Given the description of an element on the screen output the (x, y) to click on. 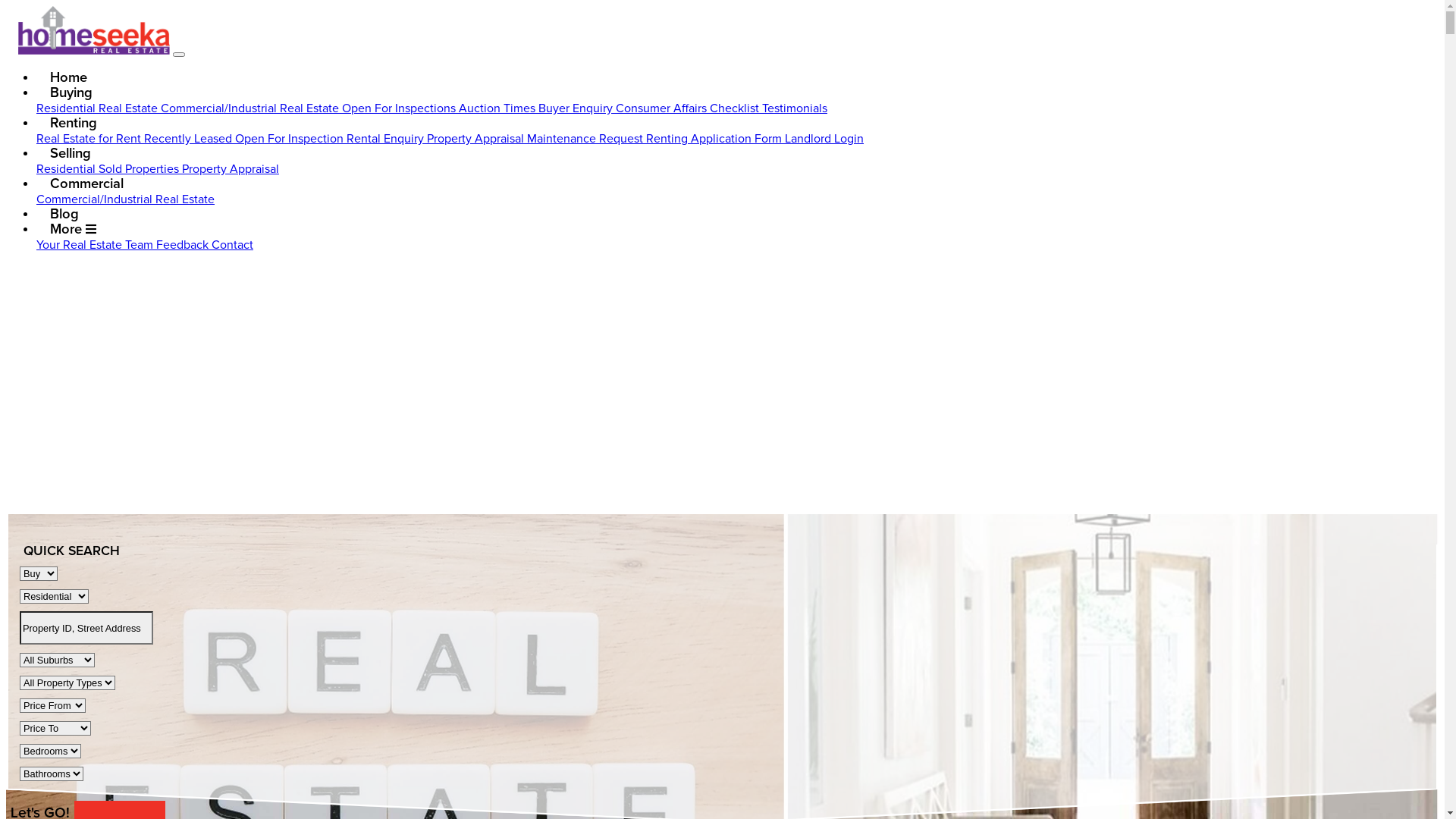
Homeseeka Element type: hover (93, 30)
Auction Times Element type: text (498, 108)
Rental Enquiry Element type: text (386, 138)
Home Element type: text (68, 77)
Buying Element type: text (70, 92)
Contact Element type: text (232, 244)
Testimonials Element type: text (794, 108)
Buyer Enquiry Element type: text (576, 108)
Renting Element type: text (72, 122)
Blog Element type: text (63, 213)
Residential Real Estate Element type: text (98, 108)
Commercial/Industrial Real Estate Element type: text (125, 199)
Maintenance Request Element type: text (586, 138)
Open For Inspections Element type: text (400, 108)
Residential Sold Properties Element type: text (109, 168)
Renting Application Form Element type: text (715, 138)
Your Real Estate Team Element type: text (96, 244)
Commercial/Industrial Real Estate Element type: text (251, 108)
Consumer Affairs Checklist Element type: text (688, 108)
Commercial Element type: text (86, 183)
Open For Inspection Element type: text (290, 138)
Property Appraisal Element type: text (476, 138)
Recently Leased Element type: text (189, 138)
Feedback Element type: text (183, 244)
Property Appraisal Element type: text (230, 168)
Real Estate for Rent Element type: text (90, 138)
More   Element type: text (74, 229)
Selling Element type: text (69, 153)
Landlord Login Element type: text (823, 138)
